Given the description of an element on the screen output the (x, y) to click on. 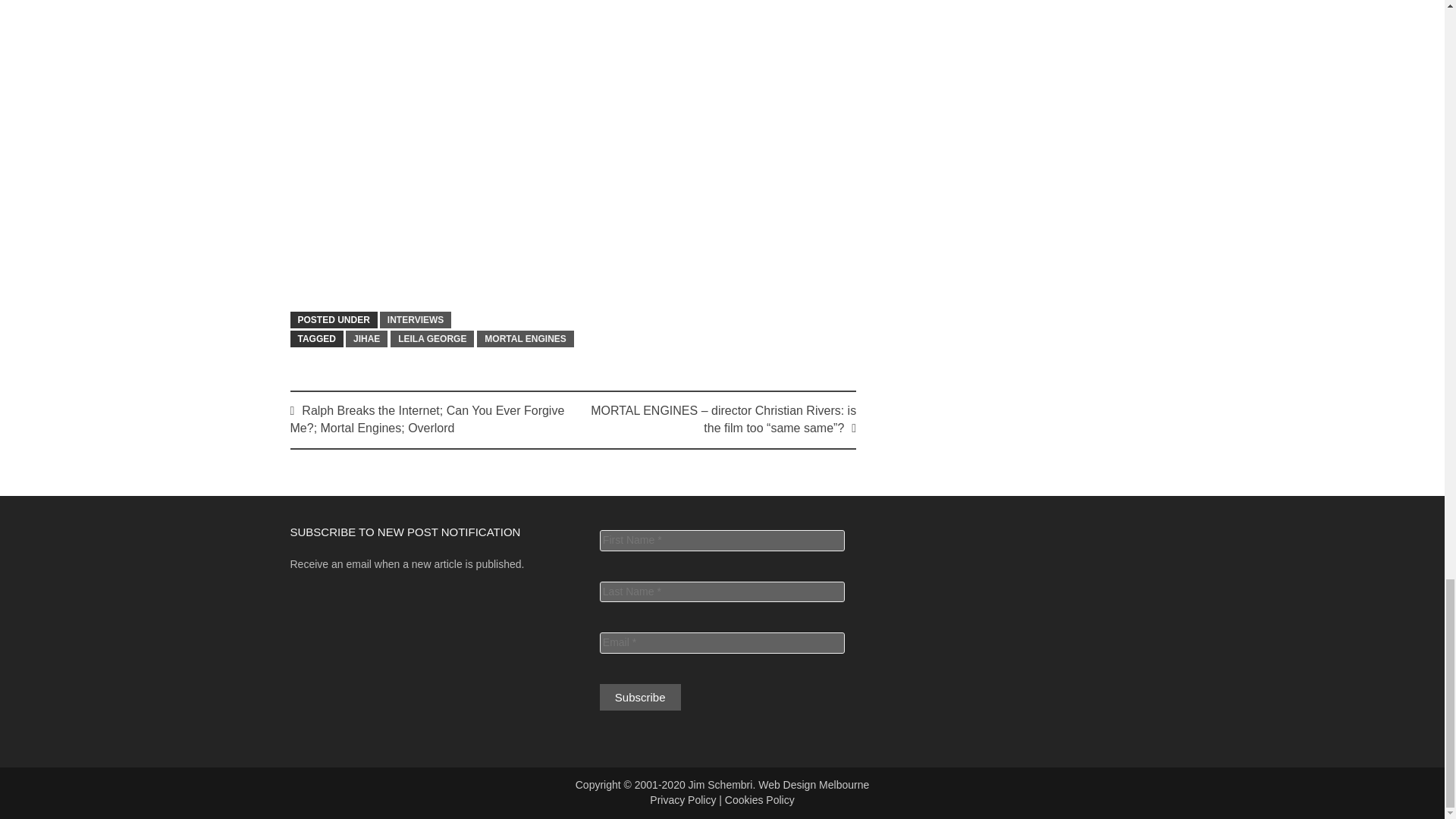
LEILA GEORGE (432, 338)
Cookies Policy (759, 799)
Web Design Melbourne (813, 784)
Subscribe (640, 696)
MORTAL ENGINES (525, 338)
Subscribe (640, 696)
INTERVIEWS (415, 320)
JIHAE (366, 338)
Privacy Policy (682, 799)
